Given the description of an element on the screen output the (x, y) to click on. 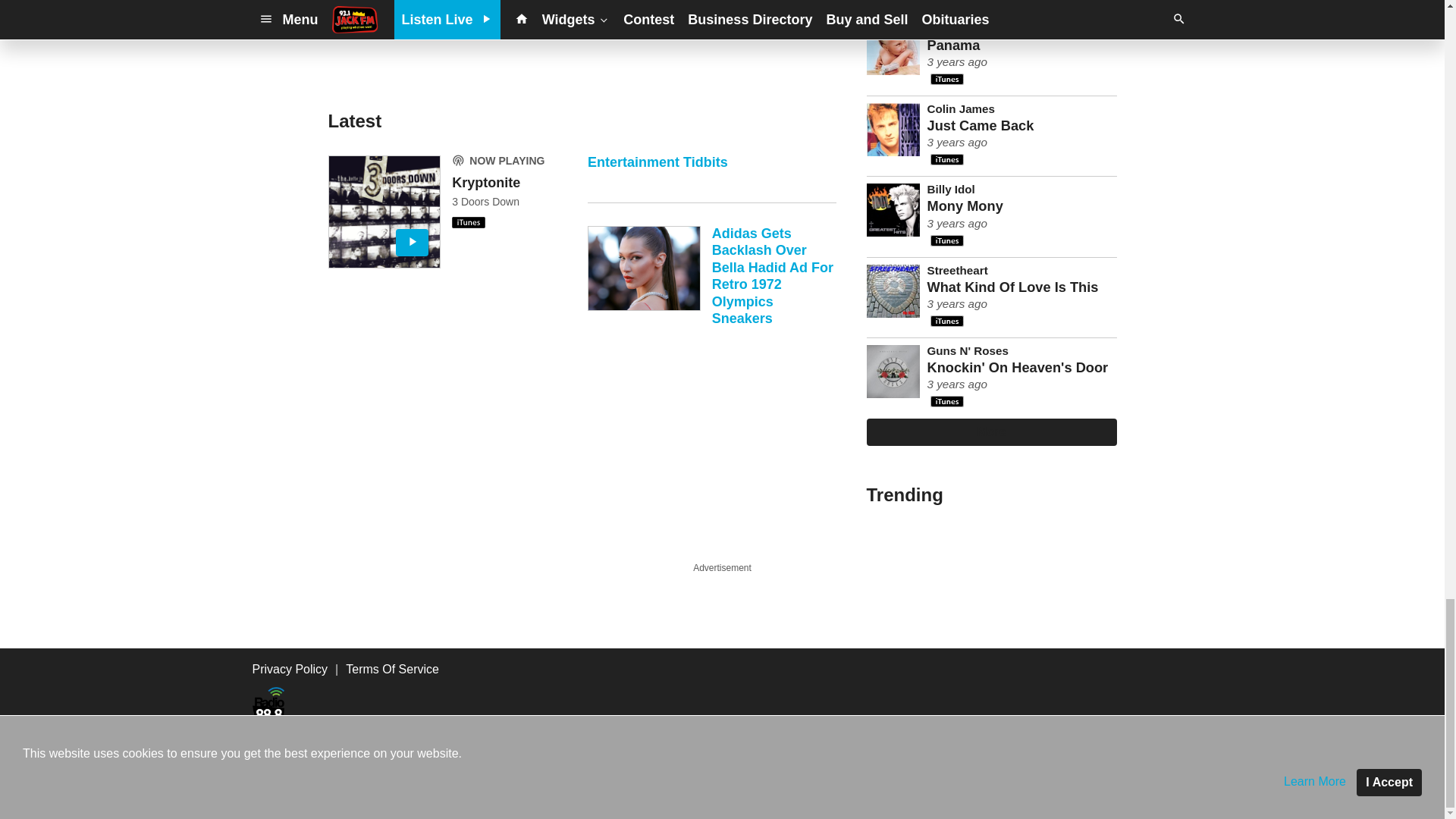
Entertainment Tidbits (711, 179)
Powered By SoCast (333, 797)
Listen Live (384, 211)
